Given the description of an element on the screen output the (x, y) to click on. 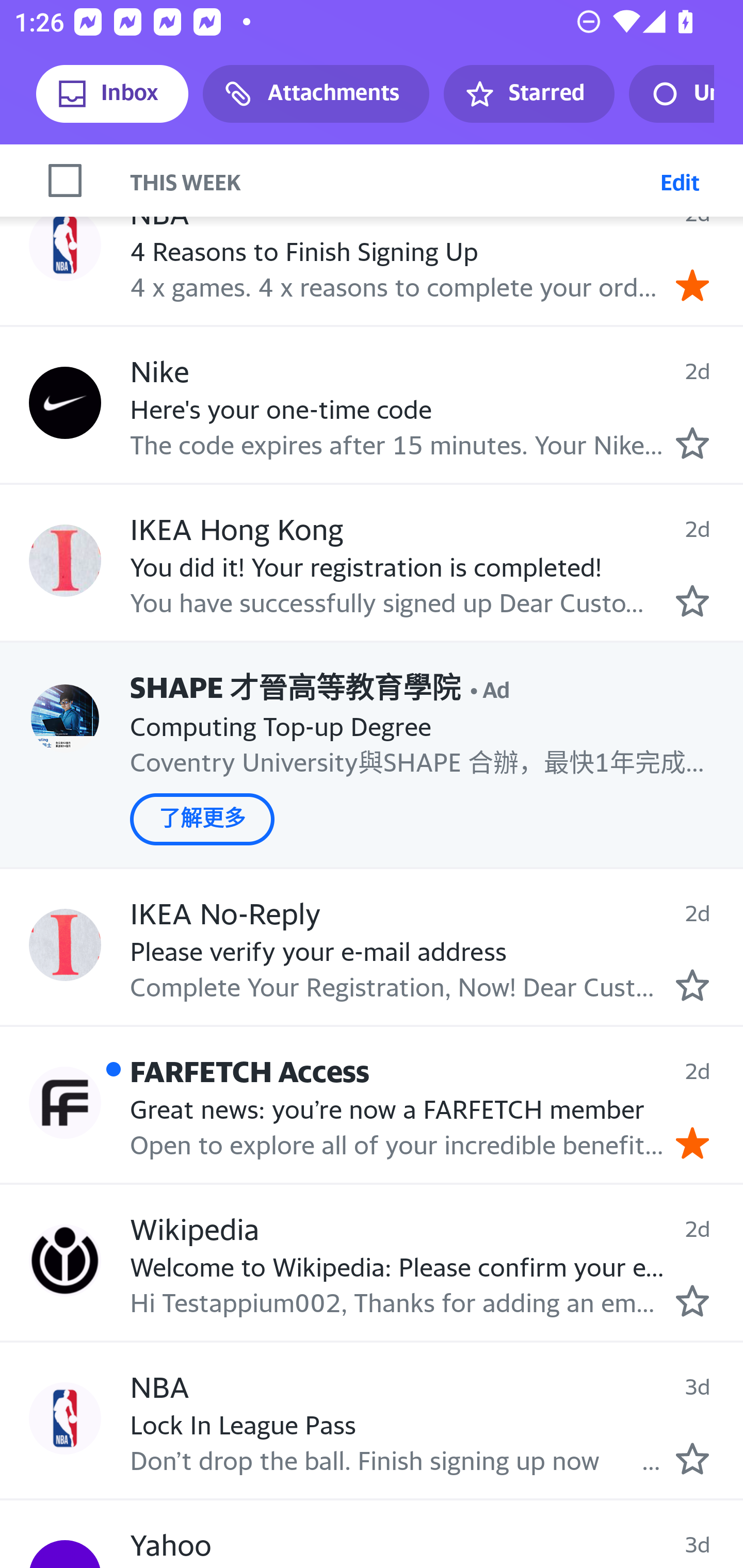
Attachments (315, 93)
Starred (528, 93)
Unread (671, 93)
Profile
NBA (64, 244)
Remove star. (692, 284)
Profile
Nike (64, 402)
Mark as starred. (692, 442)
Profile
IKEA Hong Kong (64, 561)
Mark as starred. (692, 601)
Profile
IKEA No-Reply (64, 945)
Mark as starred. (692, 985)
Profile
FARFETCH Access (64, 1102)
Remove star. (692, 1142)
Profile
Wikipedia (64, 1260)
Mark as starred. (692, 1300)
Profile
NBA (64, 1418)
Mark as starred. (692, 1458)
